Given the description of an element on the screen output the (x, y) to click on. 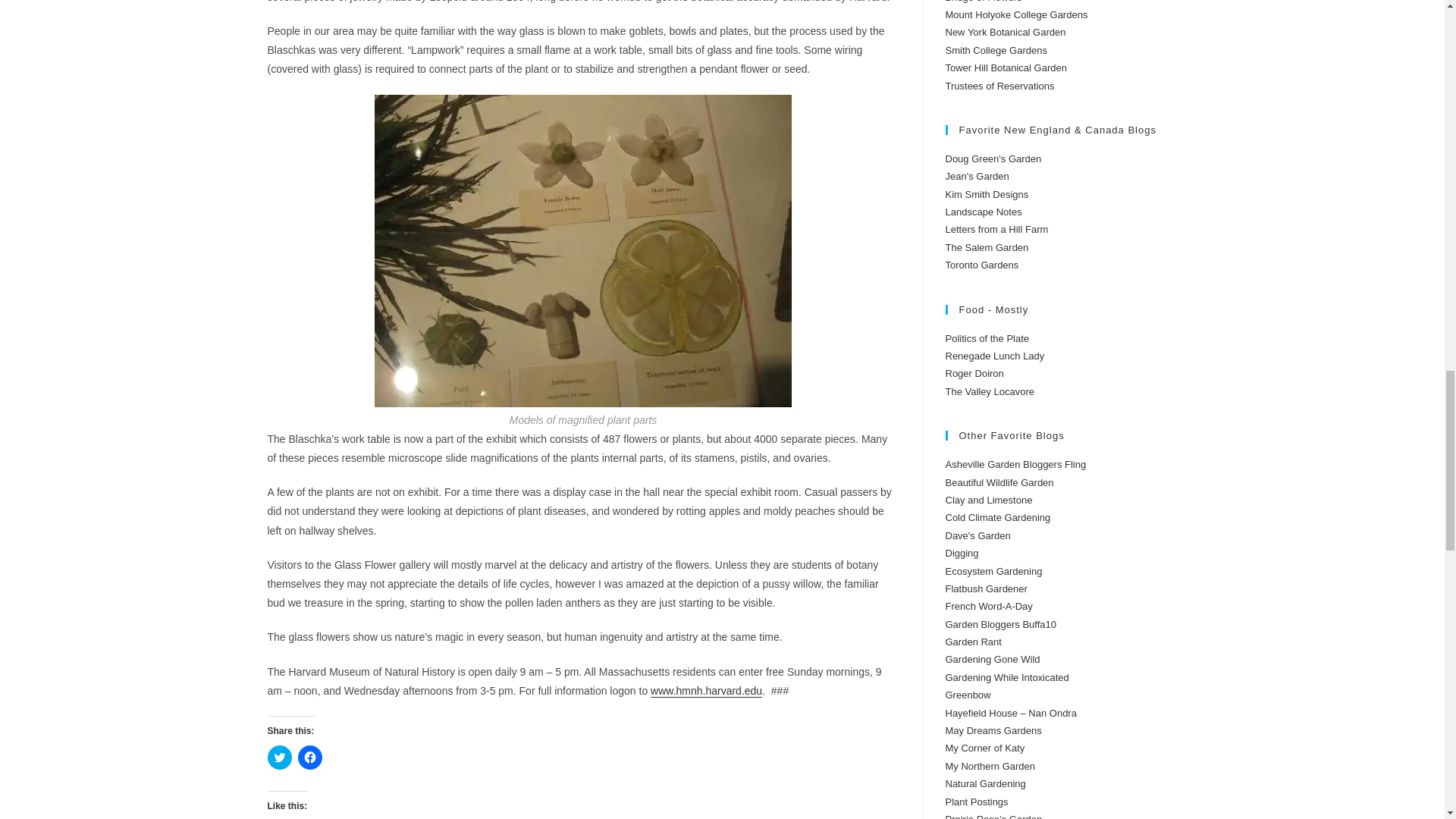
Click to share on Twitter (278, 757)
Blaschka magnifications (583, 251)
Click to share on Facebook (309, 757)
Visit the garden ranters (972, 641)
www.hmnh.harvard.edu (705, 690)
